Given the description of an element on the screen output the (x, y) to click on. 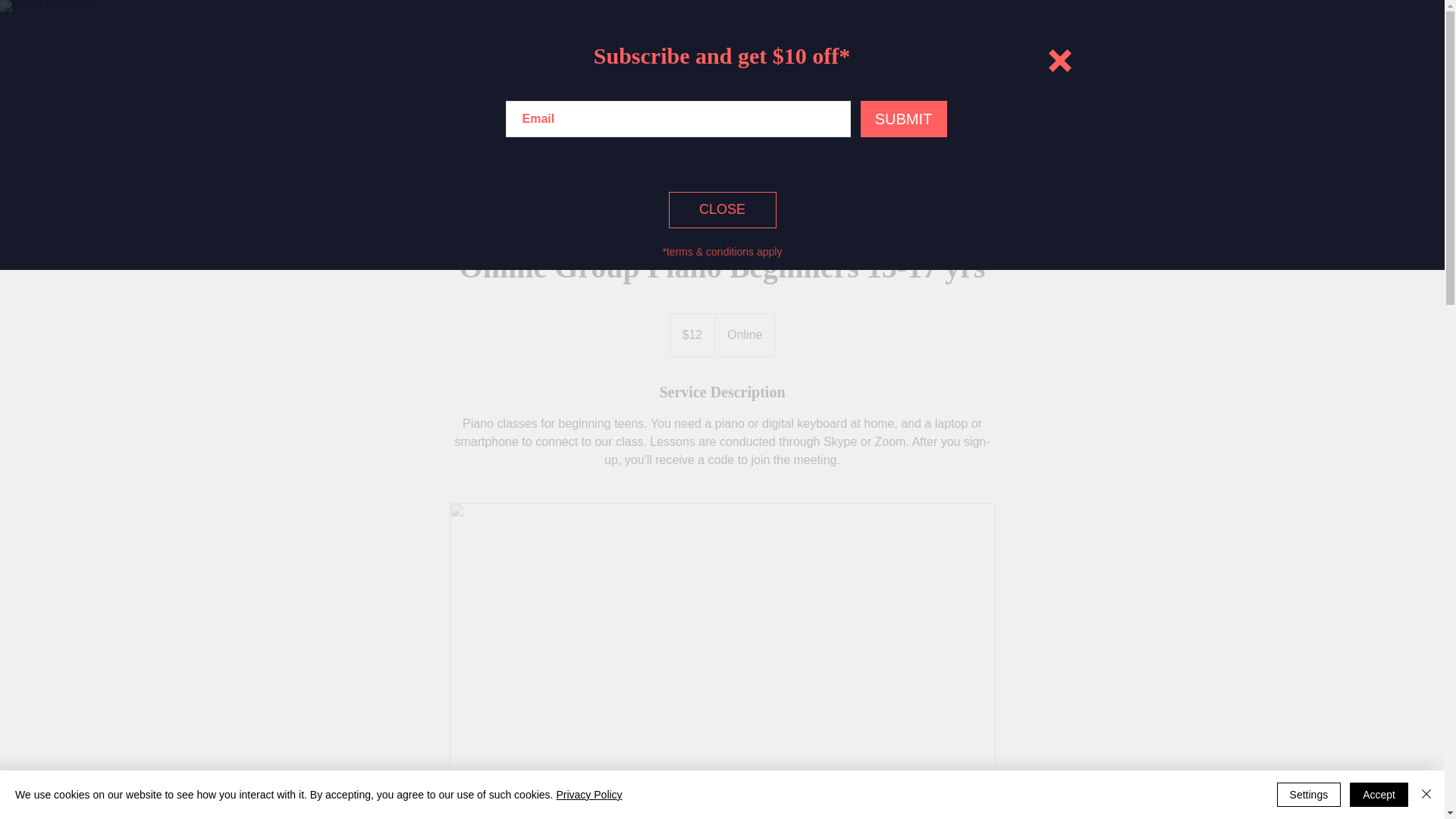
How it Works (727, 104)
Pricing (872, 104)
213-290-6568 (392, 31)
Classes (810, 104)
Back to site (1059, 60)
SIGN IN (954, 33)
Home (649, 104)
SIGN UP (1049, 33)
Contact (995, 104)
